Given the description of an element on the screen output the (x, y) to click on. 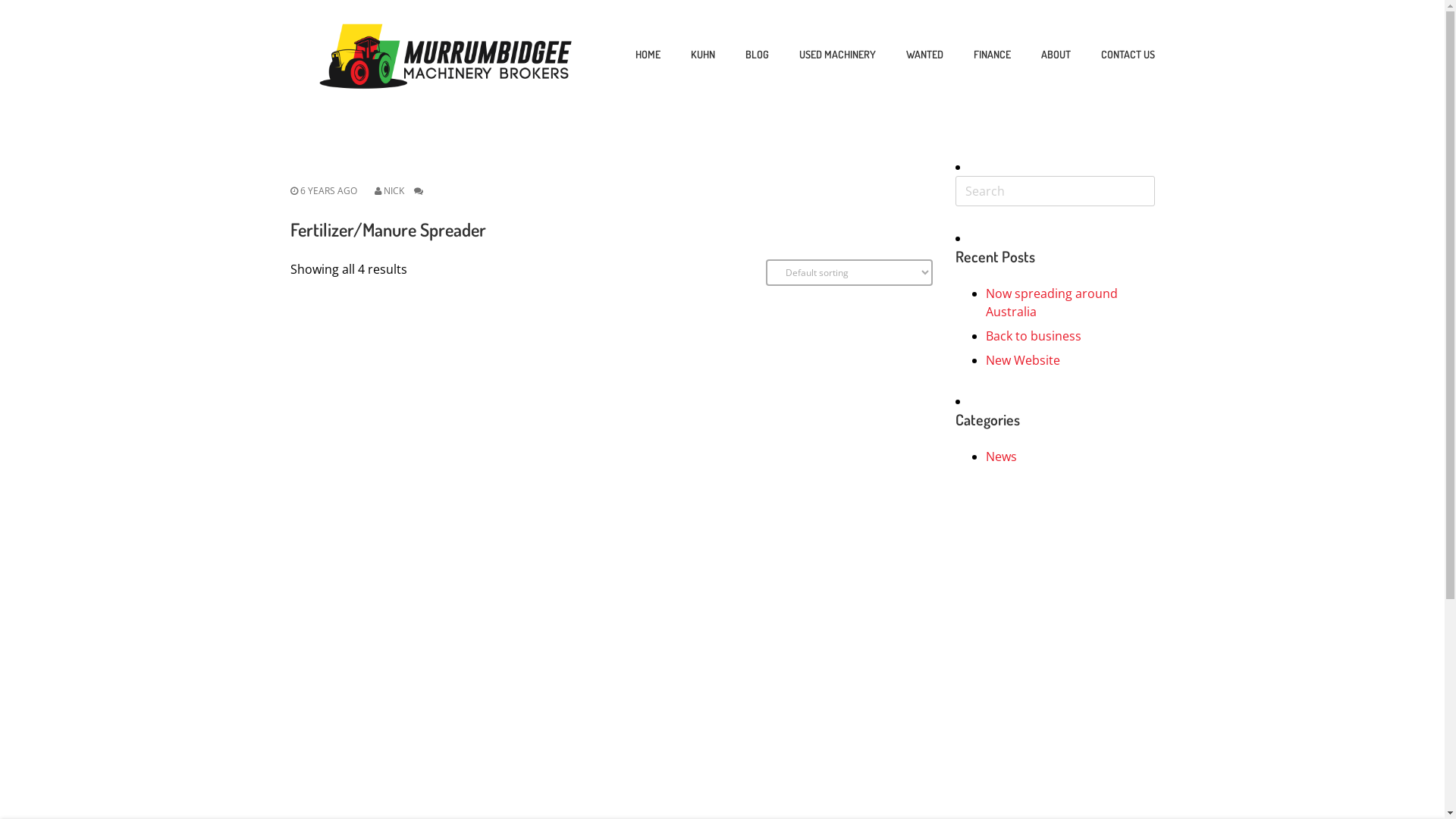
Finance Element type: text (1261, 205)
ABOUT Element type: text (1055, 54)
USED MACHINERY Element type: text (837, 54)
6 YEARS AGO Element type: text (322, 190)
HOME Element type: text (647, 54)
CONTACT US Element type: text (1127, 54)
X Element type: text (1410, 33)
Used Machinery Element type: text (1285, 160)
Kuhn Element type: text (1254, 114)
NICK Element type: text (393, 190)
KUHN Element type: text (702, 54)
New Website Element type: text (1022, 359)
About Element type: text (1256, 228)
FINANCE Element type: text (991, 54)
News Element type: text (1000, 456)
Now spreading around Australia Element type: text (1051, 302)
Home Element type: text (1256, 92)
Back to business Element type: text (1033, 335)
BLOG Element type: text (756, 54)
WANTED Element type: text (923, 54)
Contact Us Element type: text (1270, 251)
Wanted Element type: text (1261, 183)
Blog Element type: text (1251, 137)
